Given the description of an element on the screen output the (x, y) to click on. 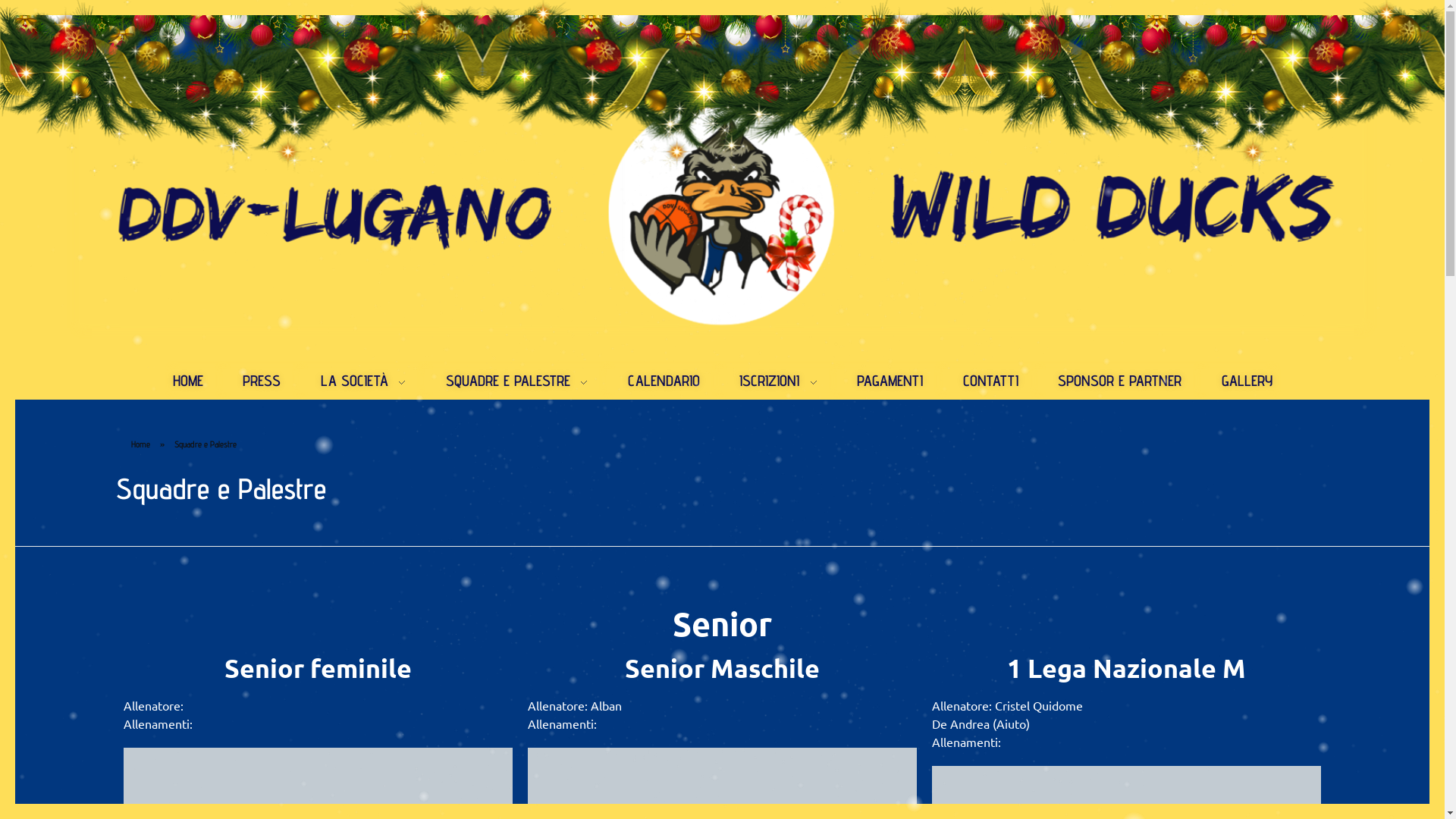
GALLERY Element type: text (1236, 380)
HOME Element type: text (197, 380)
imageedit_7_2086685746 Element type: hover (721, 213)
CALENDARIO Element type: text (663, 380)
SPONSOR E PARTNER Element type: text (1119, 380)
CONTATTI Element type: text (990, 380)
PAGAMENTI Element type: text (890, 380)
PRESS Element type: text (261, 380)
Home Element type: text (139, 443)
